Given the description of an element on the screen output the (x, y) to click on. 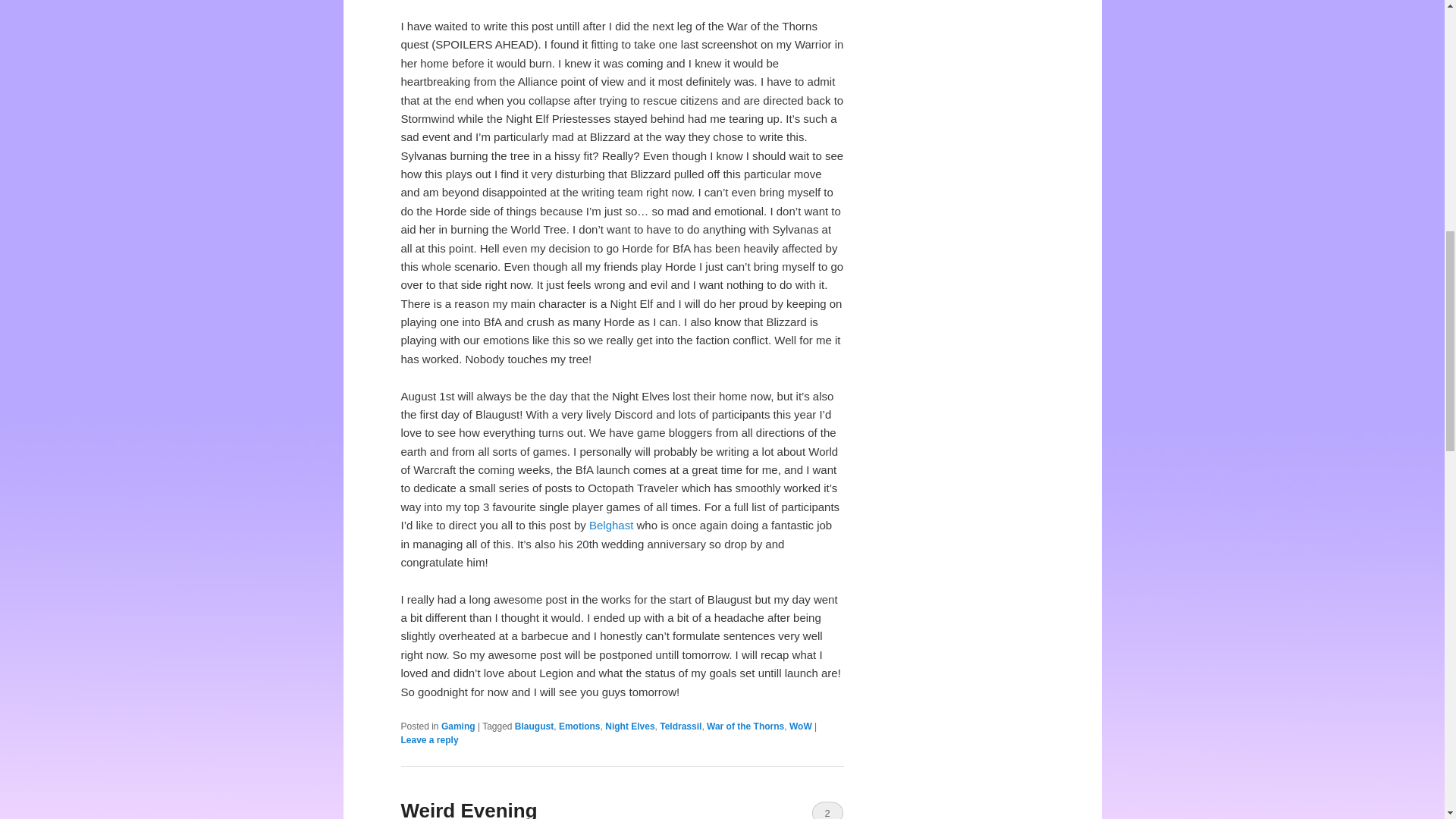
Teldrassil (680, 726)
Blaugust (534, 726)
Emotions (579, 726)
Gaming (458, 726)
2 (827, 809)
Leave a reply (429, 739)
Night Elves (629, 726)
WoW (800, 726)
Weird Evening (468, 809)
War of the Thorns (745, 726)
